Given the description of an element on the screen output the (x, y) to click on. 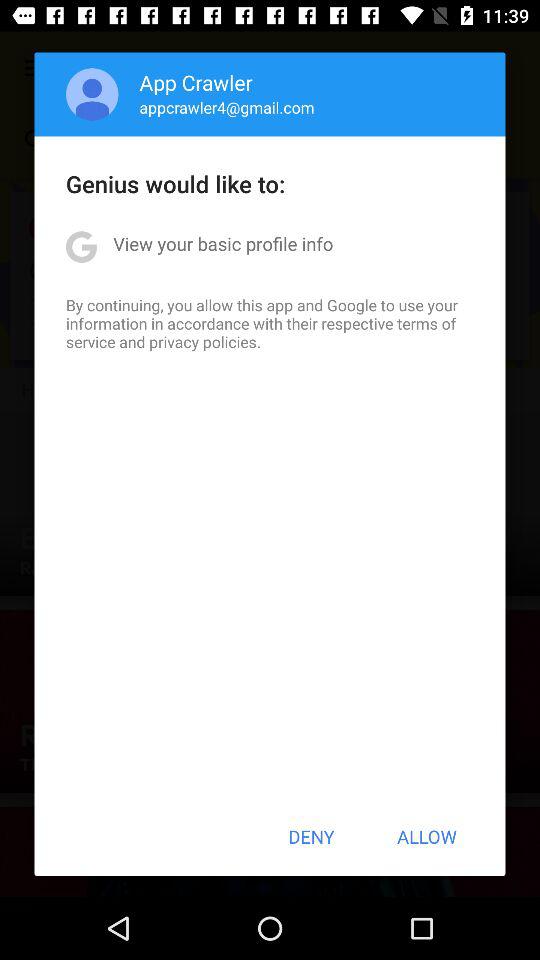
select the item above the appcrawler4@gmail.com item (195, 82)
